Given the description of an element on the screen output the (x, y) to click on. 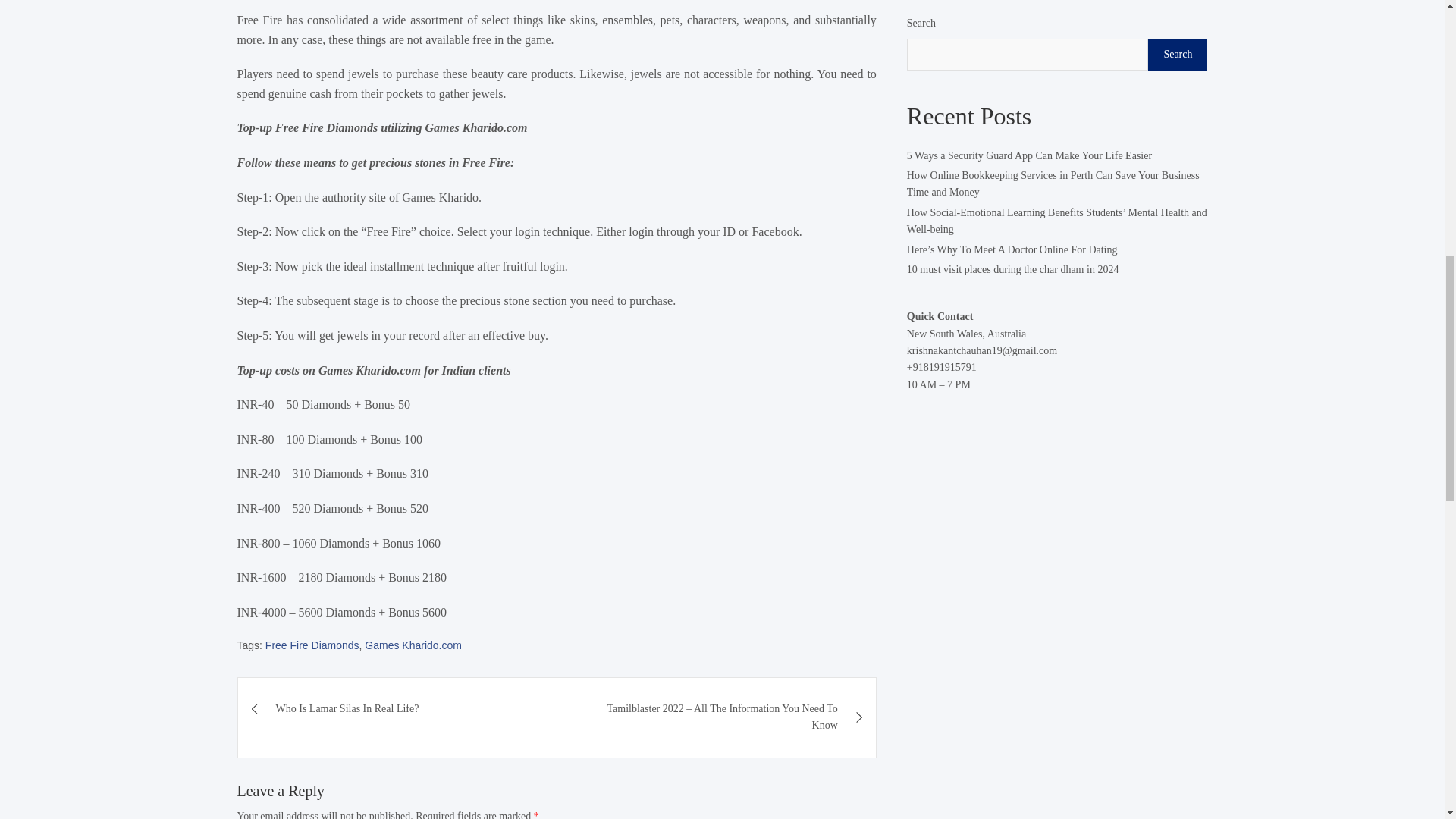
Free Fire Diamonds (311, 645)
Games Kharido.com (413, 645)
Who Is Lamar Silas In Real Life? (397, 709)
